Given the description of an element on the screen output the (x, y) to click on. 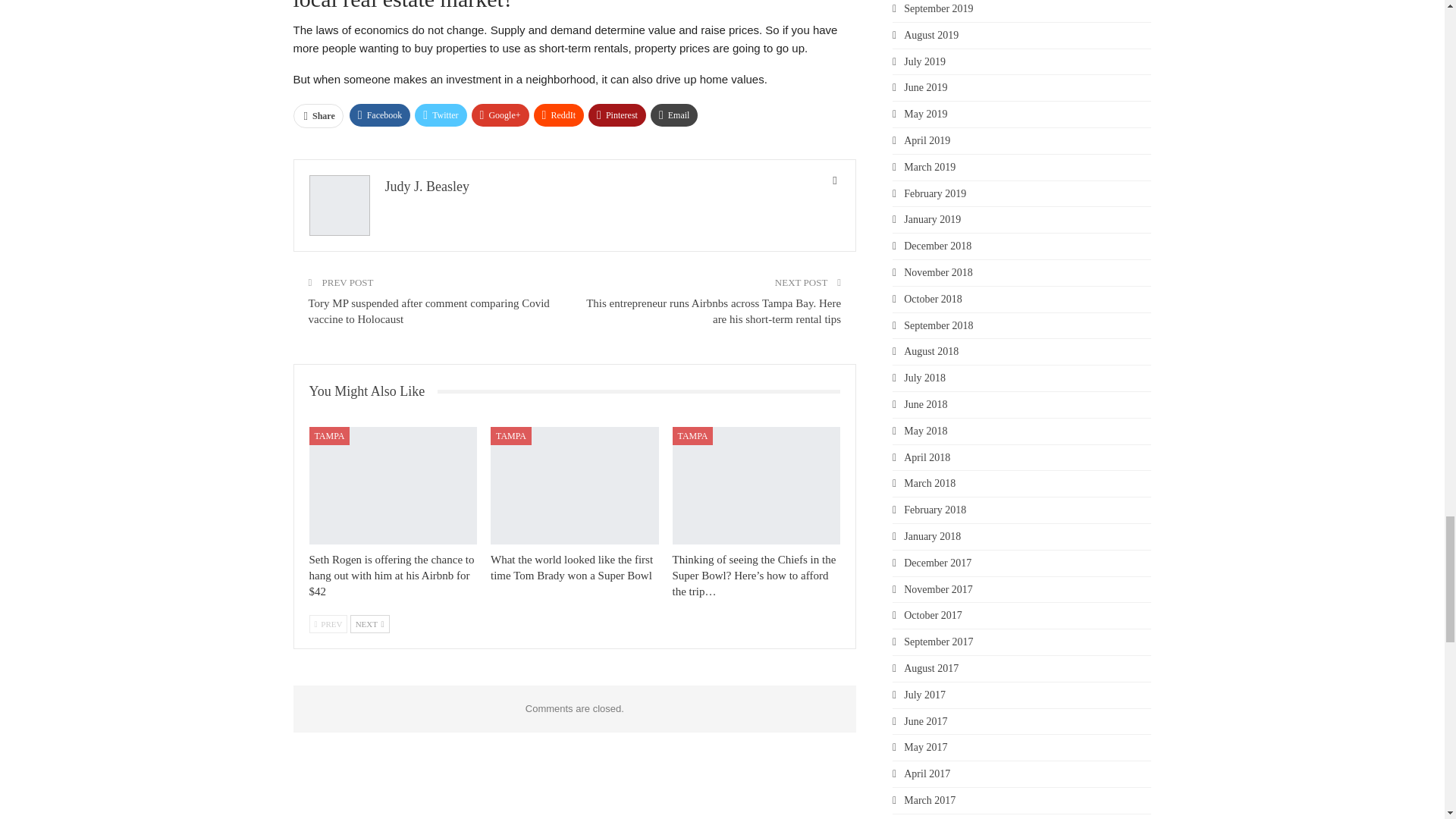
Twitter (439, 115)
Next (370, 624)
ReddIt (559, 115)
TAMPA (692, 435)
Judy J. Beasley (427, 186)
Email (674, 115)
You Might Also Like (373, 391)
